Given the description of an element on the screen output the (x, y) to click on. 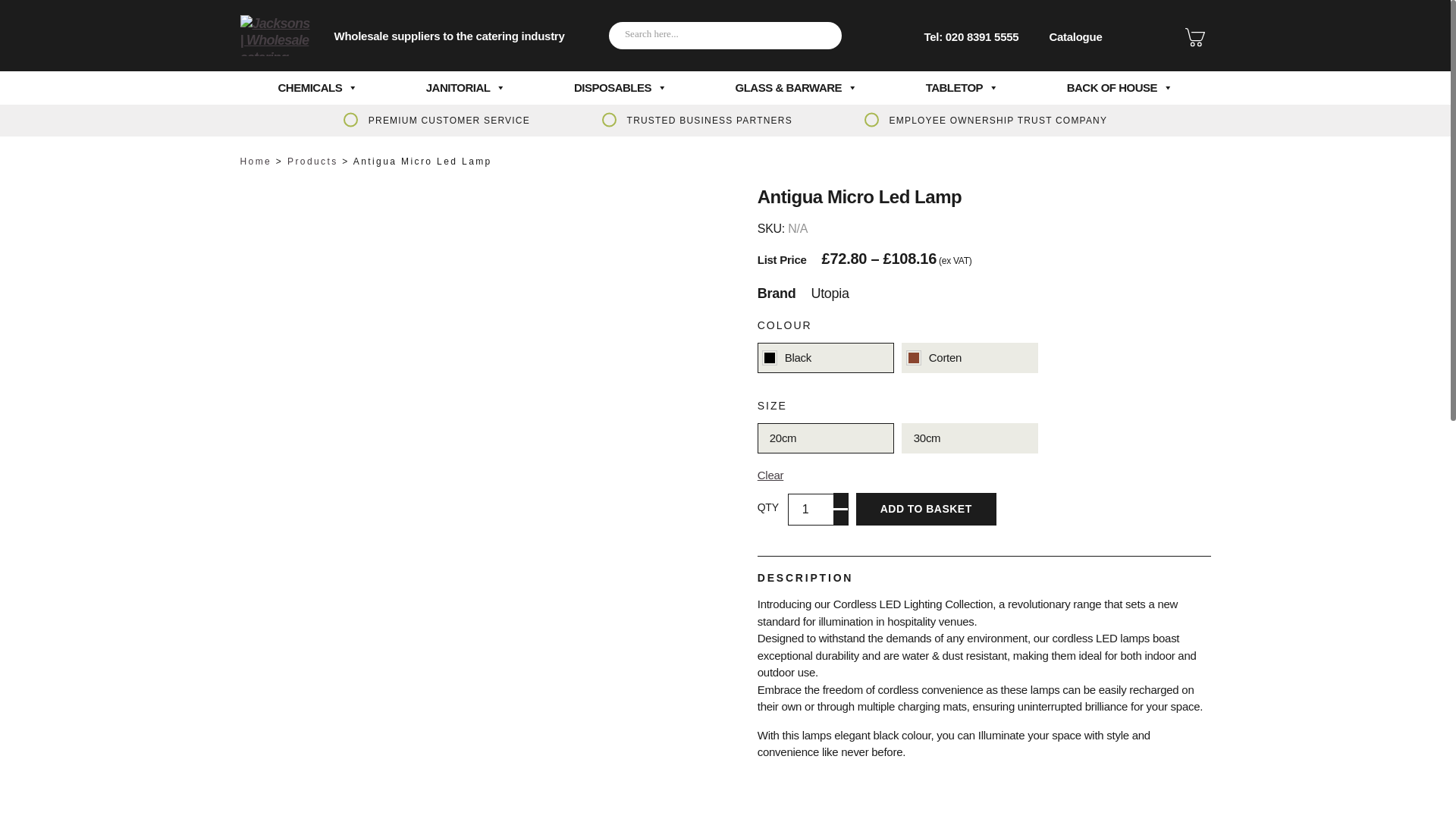
Tel: 020 8391 5555 (970, 36)
corten (969, 358)
Catalogue (1086, 36)
30cm (969, 438)
Wishlist (1194, 36)
20cm (825, 438)
black (825, 358)
1 (817, 509)
CHEMICALS (317, 87)
JANITORIAL (465, 87)
